Given the description of an element on the screen output the (x, y) to click on. 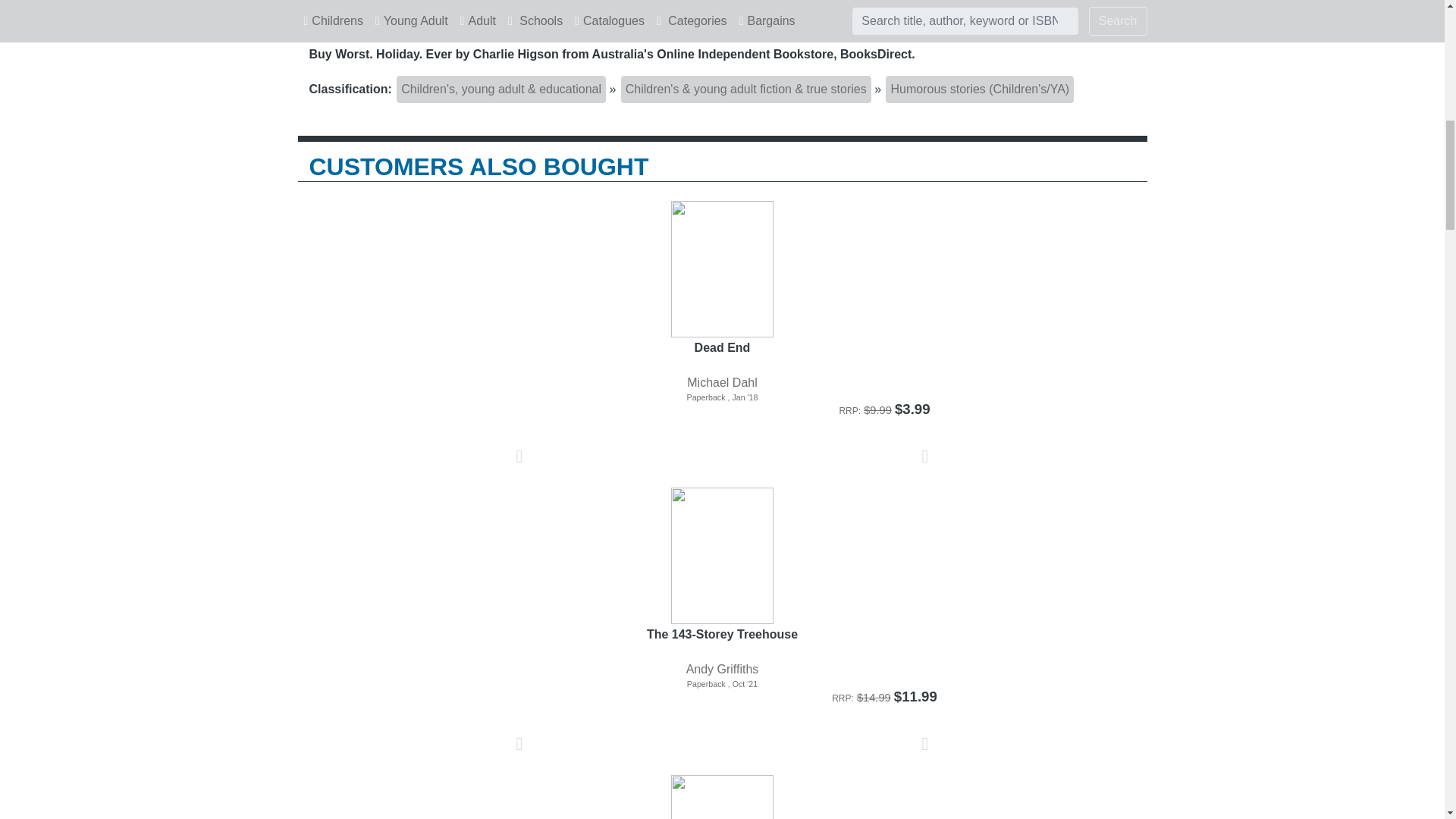
Andy Griffiths (722, 669)
Dead End (722, 269)
View other books by author Andy Griffiths (721, 668)
Dead End (722, 356)
The 143-Storey Treehouse (722, 642)
The 143-Storey Treehouse (722, 556)
Michael Dahl (722, 382)
View other books by author Michael Dahl (722, 382)
